Given the description of an element on the screen output the (x, y) to click on. 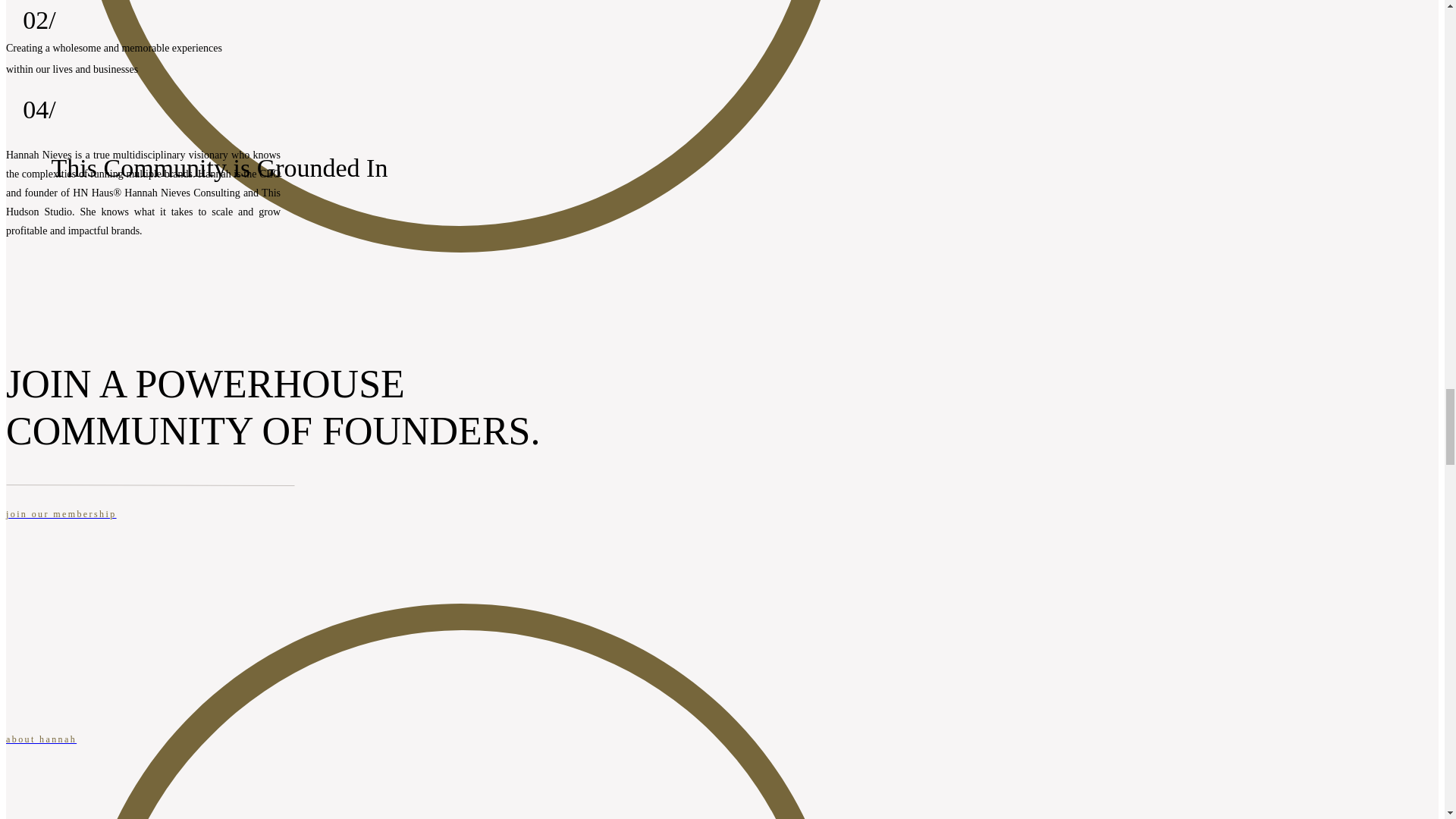
join our membership (460, 525)
